Given the description of an element on the screen output the (x, y) to click on. 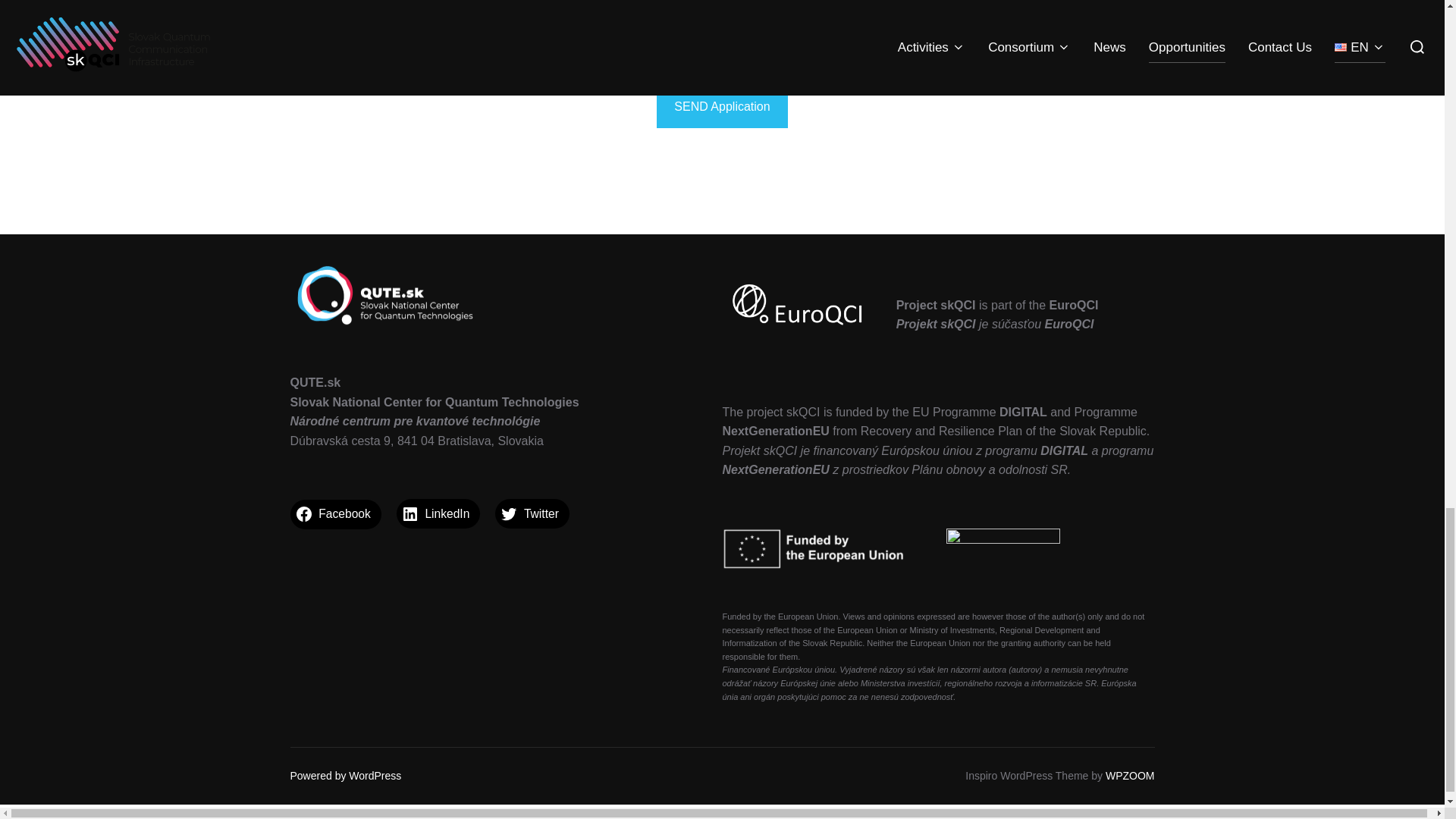
TurnKey Linux (785, 810)
LinkedIn (438, 513)
Facebook (334, 513)
WordPress Appliance (671, 810)
Twitter (532, 513)
SEND Application (721, 106)
Powered by WordPress (345, 775)
WPZOOM (1129, 775)
